Given the description of an element on the screen output the (x, y) to click on. 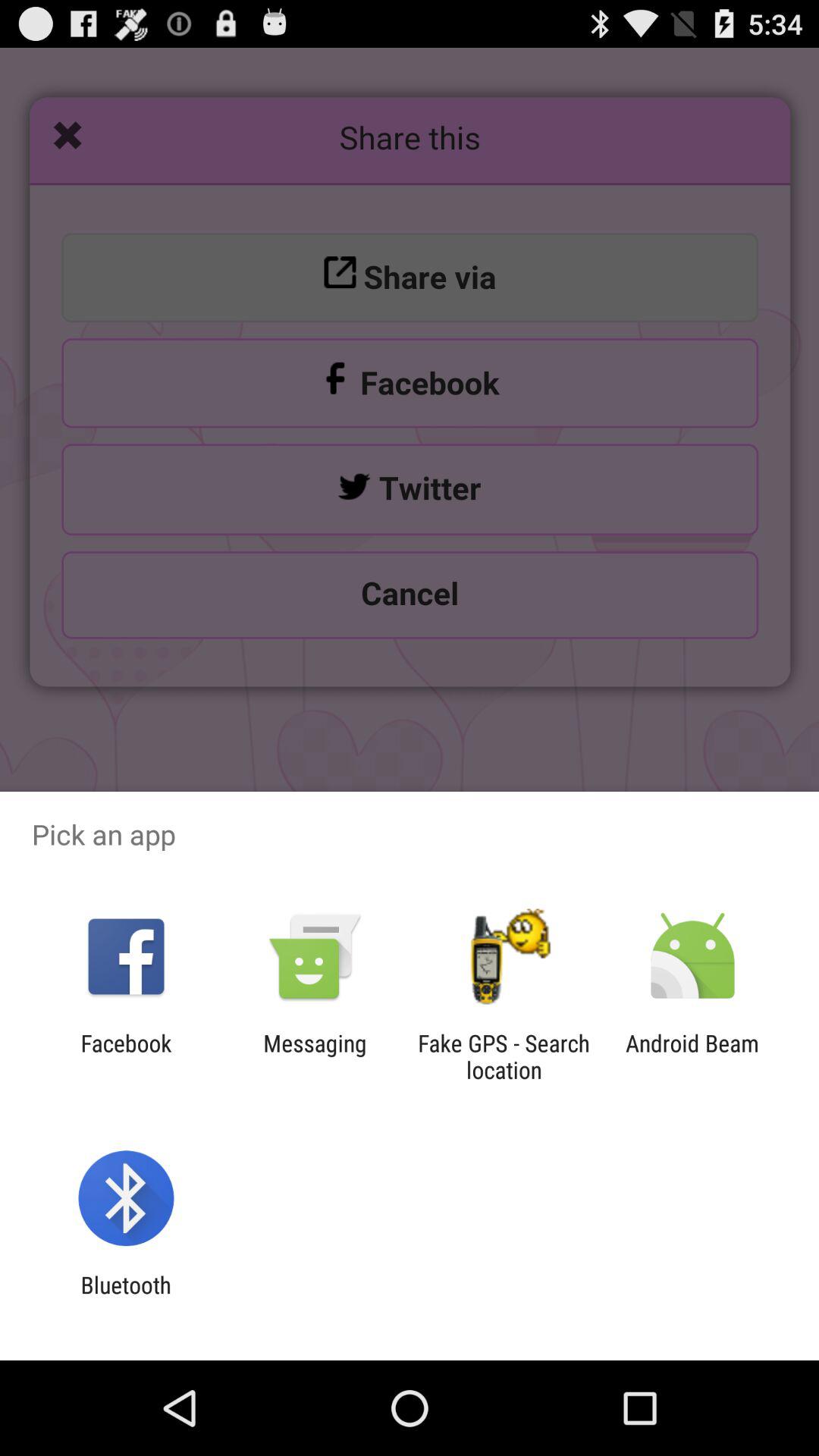
swipe to android beam item (692, 1056)
